Given the description of an element on the screen output the (x, y) to click on. 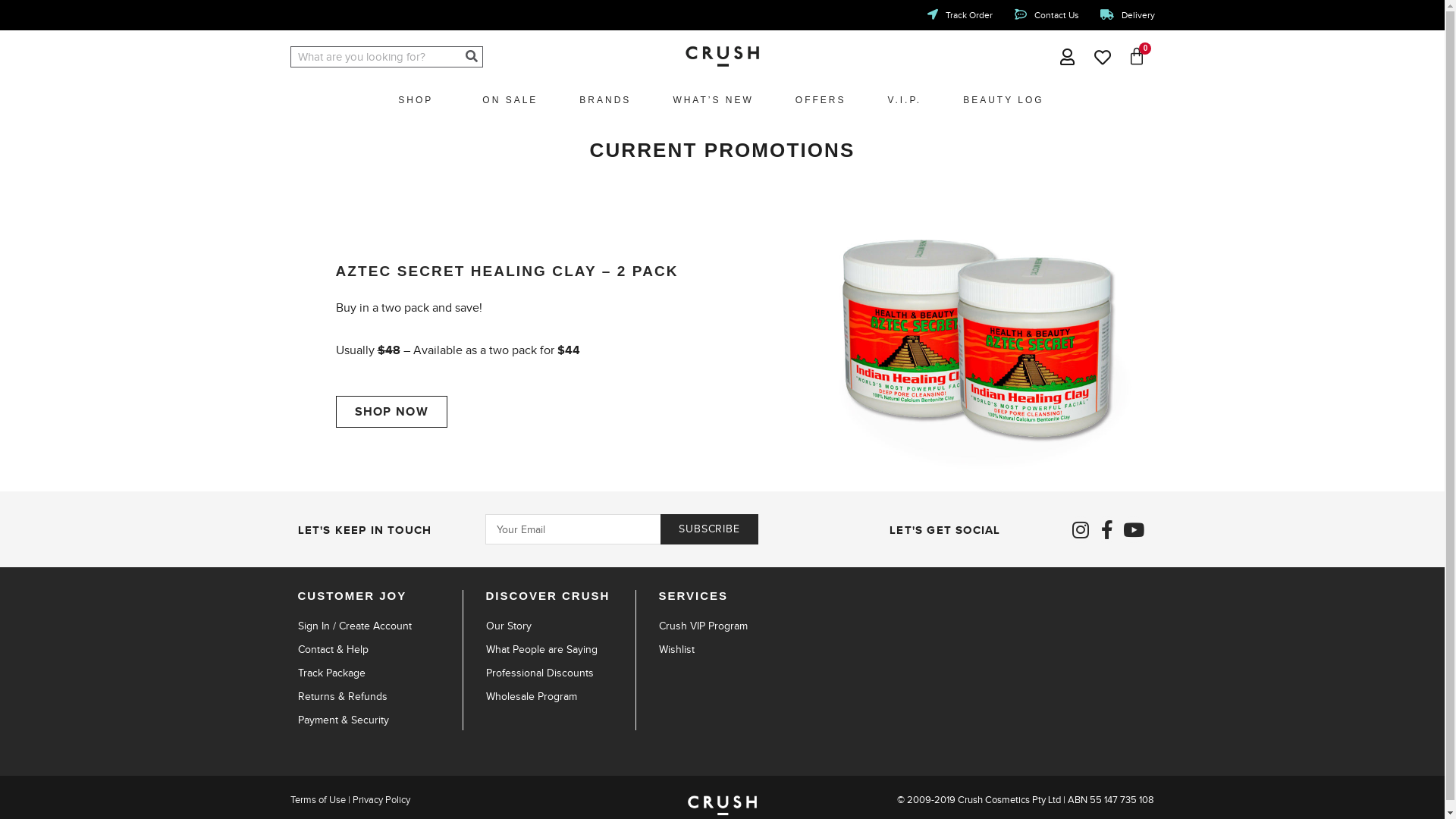
Payment & Security Element type: text (379, 720)
Contact & Help Element type: text (379, 649)
Search Element type: hover (471, 56)
Wishlist Element type: text (733, 649)
Wholesale Program Element type: text (559, 696)
What People are Saying Element type: text (559, 649)
Search Element type: hover (376, 56)
ON SALE Element type: text (509, 99)
Delivery Element type: text (1127, 14)
Privacy Policy Element type: text (380, 799)
SHOP NOW Element type: text (390, 411)
V.I.P. Element type: text (904, 99)
Contact Us Element type: text (1046, 14)
SHOP Element type: text (418, 99)
BRANDS Element type: text (605, 99)
Our Story Element type: text (559, 626)
SUBSCRIBE Element type: text (708, 529)
OFFERS Element type: text (820, 99)
Professional Discounts Element type: text (559, 673)
Track Order Element type: text (958, 14)
Returns & Refunds Element type: text (379, 696)
Crush VIP Program Element type: text (733, 626)
Terms of Use Element type: text (317, 799)
Sign In / Create Account Element type: text (379, 626)
BEAUTY LOG Element type: text (1002, 99)
Track Package Element type: text (379, 673)
